Given the description of an element on the screen output the (x, y) to click on. 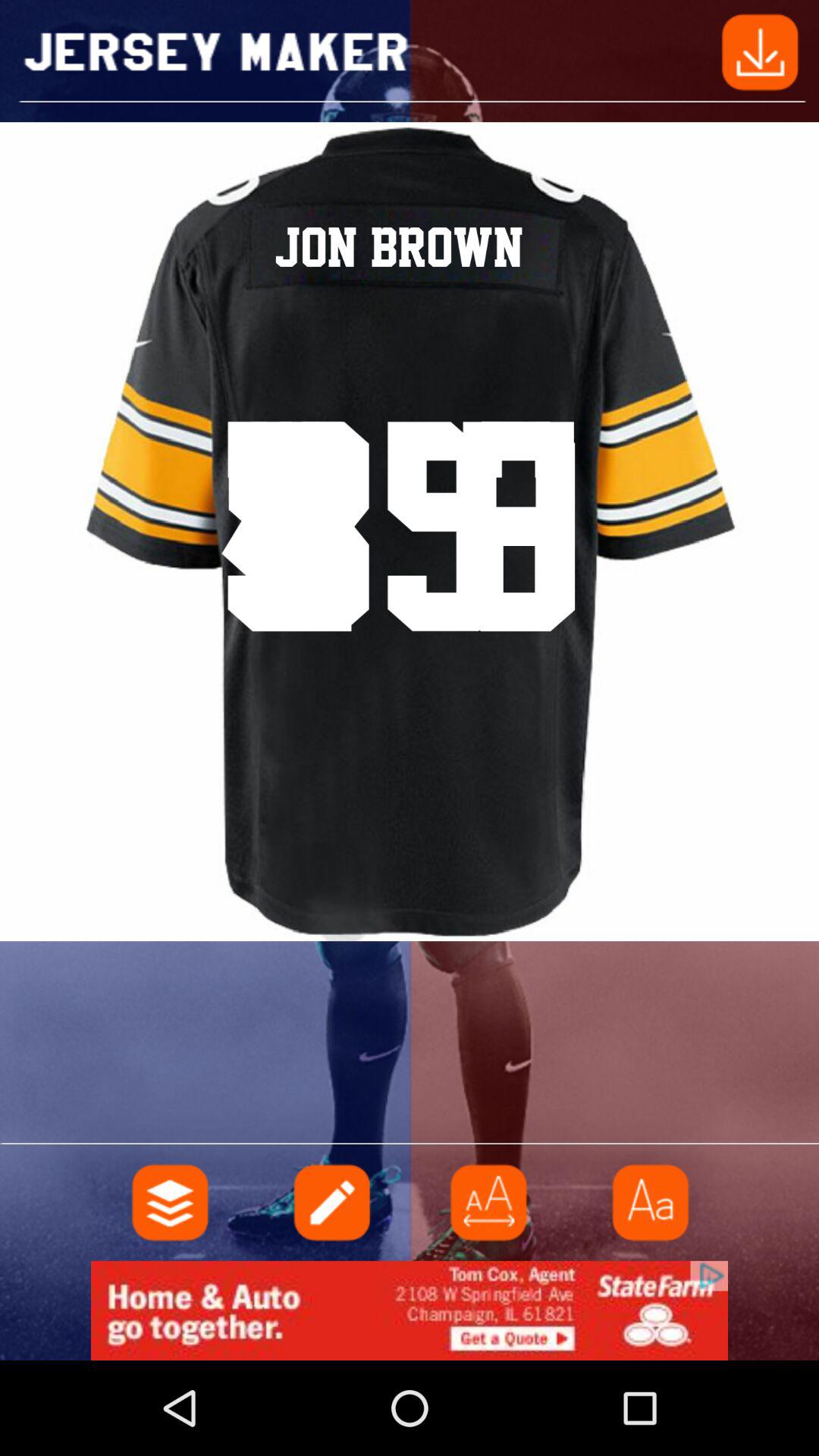
toggle caps (648, 1202)
